Given the description of an element on the screen output the (x, y) to click on. 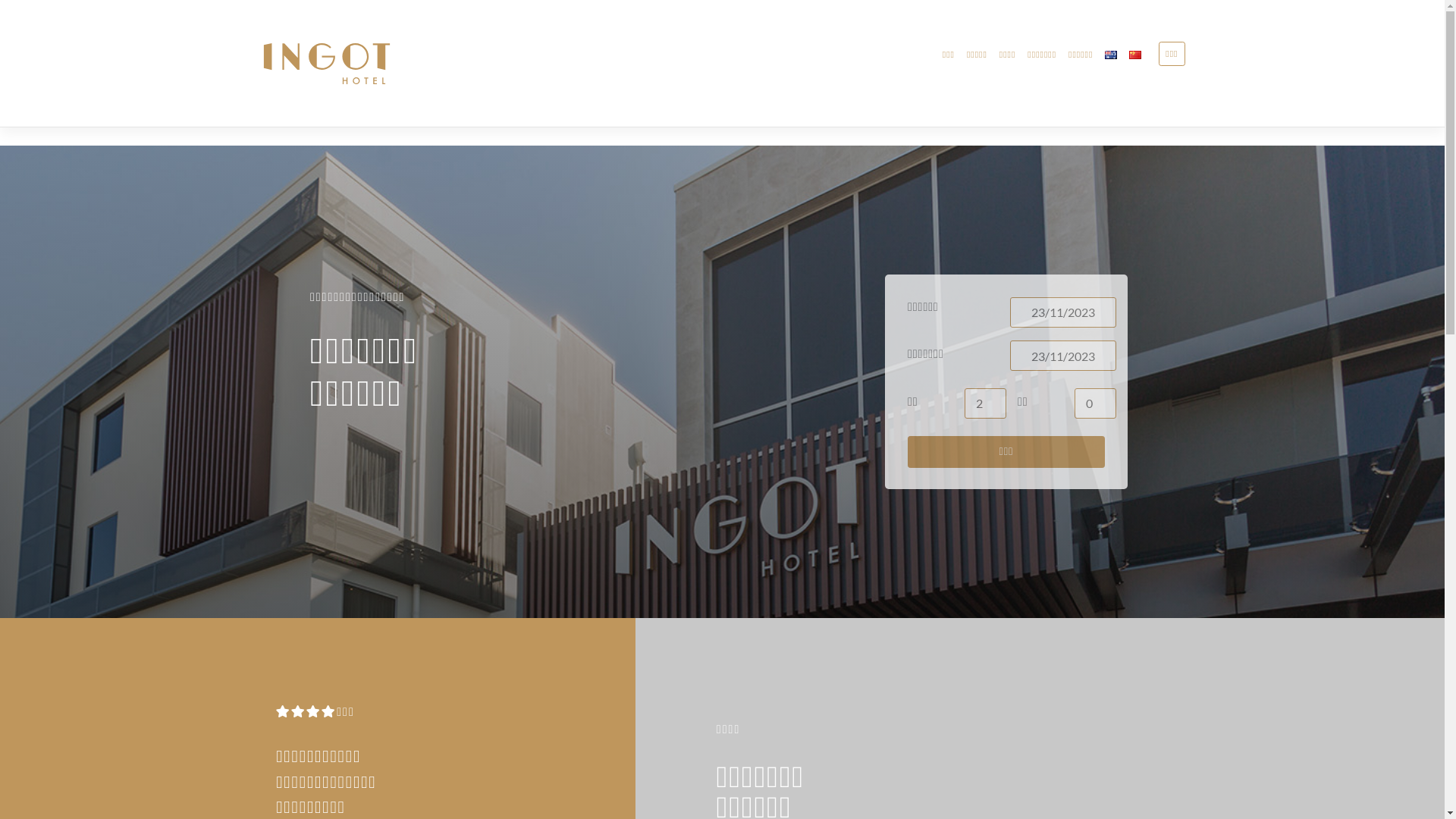
English Element type: hover (1110, 54)
